Given the description of an element on the screen output the (x, y) to click on. 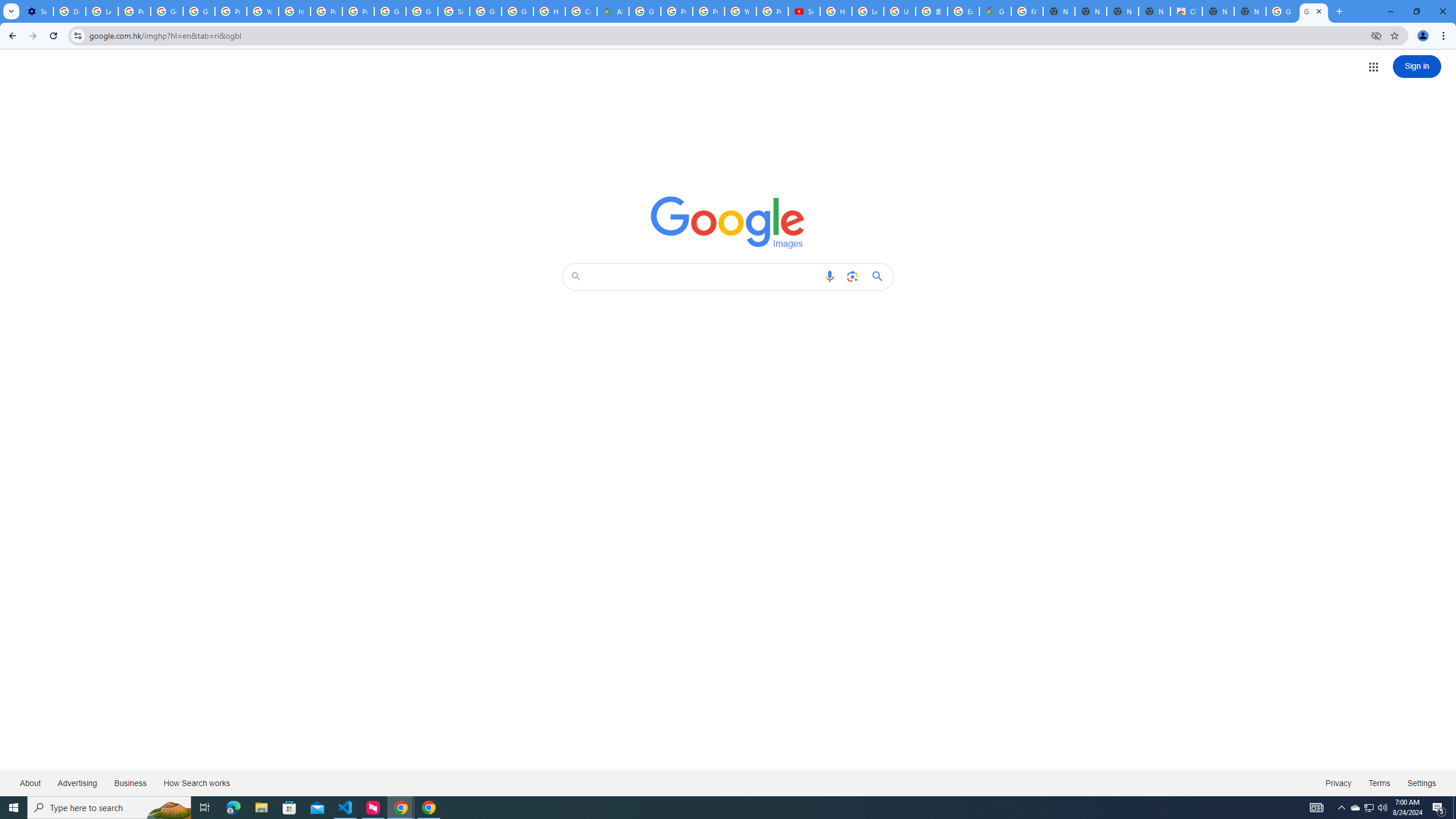
Privacy Help Center - Policies Help (326, 11)
YouTube (262, 11)
Google Images (1281, 11)
Google Images (1313, 11)
Privacy Help Center - Policies Help (708, 11)
Google Account Help (166, 11)
